Given the description of an element on the screen output the (x, y) to click on. 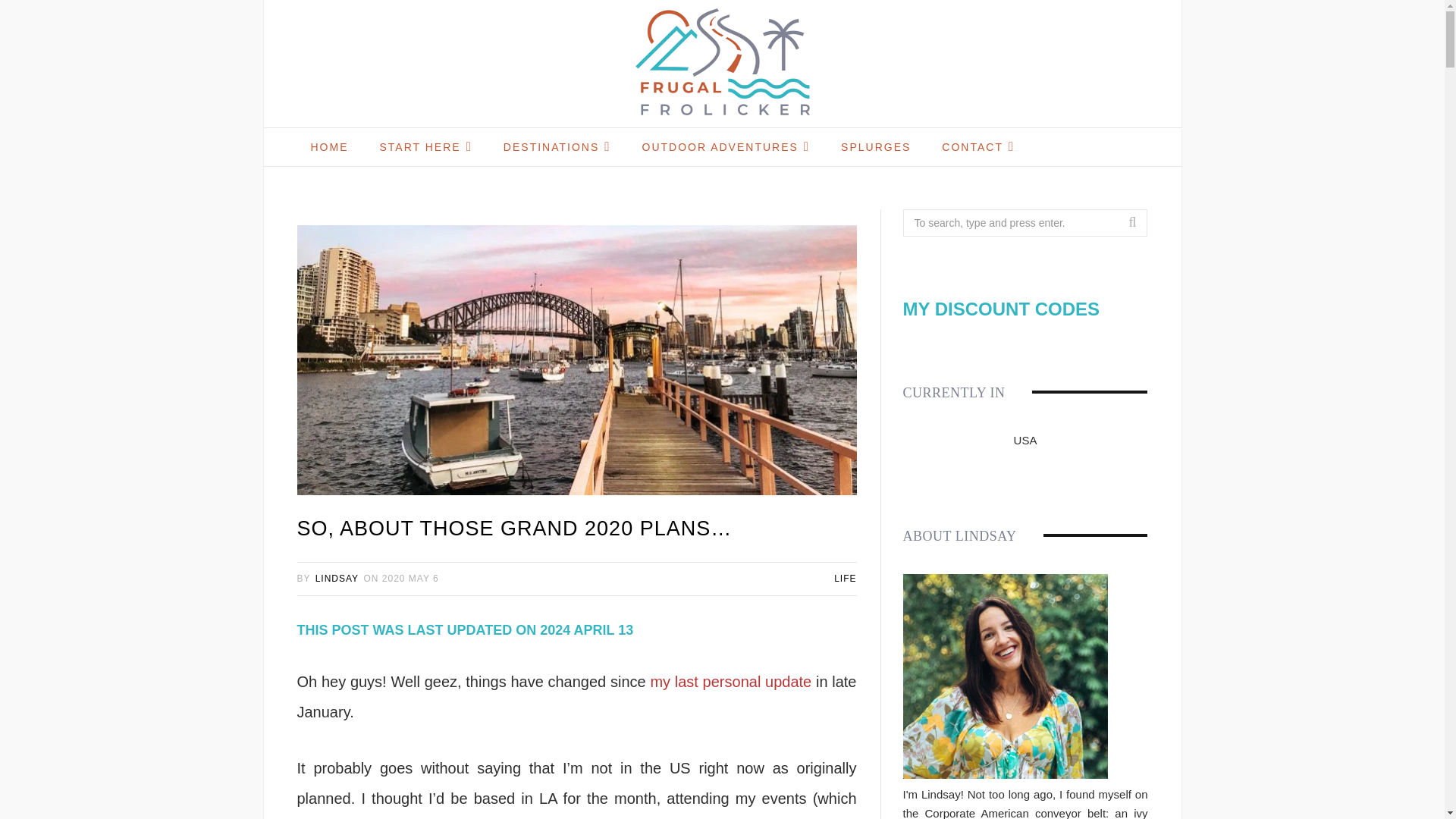
Search for: (1024, 222)
Posts by Lindsay (336, 578)
HOME (329, 147)
START HERE (424, 147)
Frugal Frolicker (721, 63)
DESTINATIONS (556, 147)
